Given the description of an element on the screen output the (x, y) to click on. 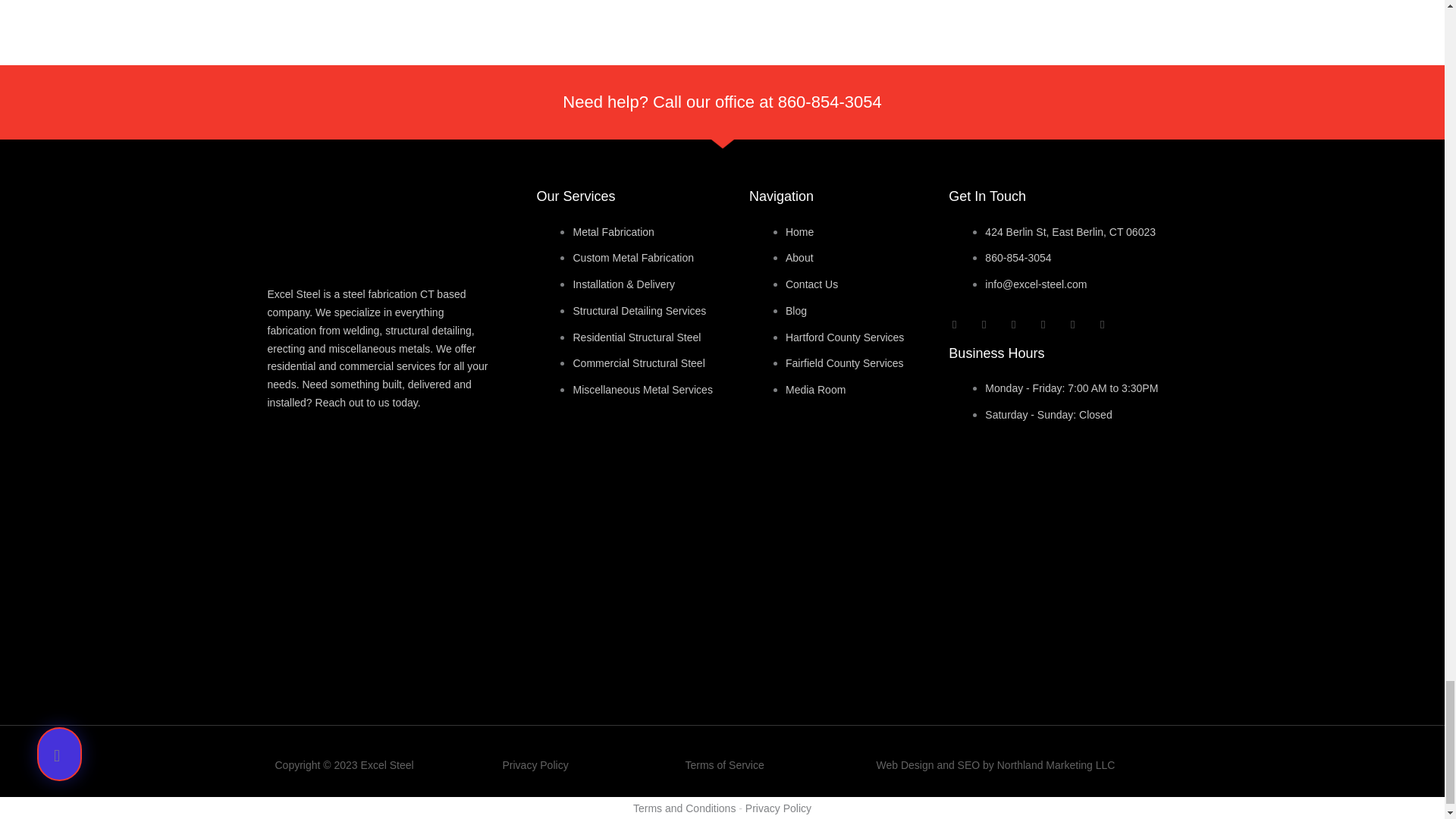
Need help? Call our office at 860-854-3054 (721, 101)
Structural Detailing Services (639, 310)
Metal Fabrication (612, 232)
Custom Metal Fabrication (633, 257)
